Given the description of an element on the screen output the (x, y) to click on. 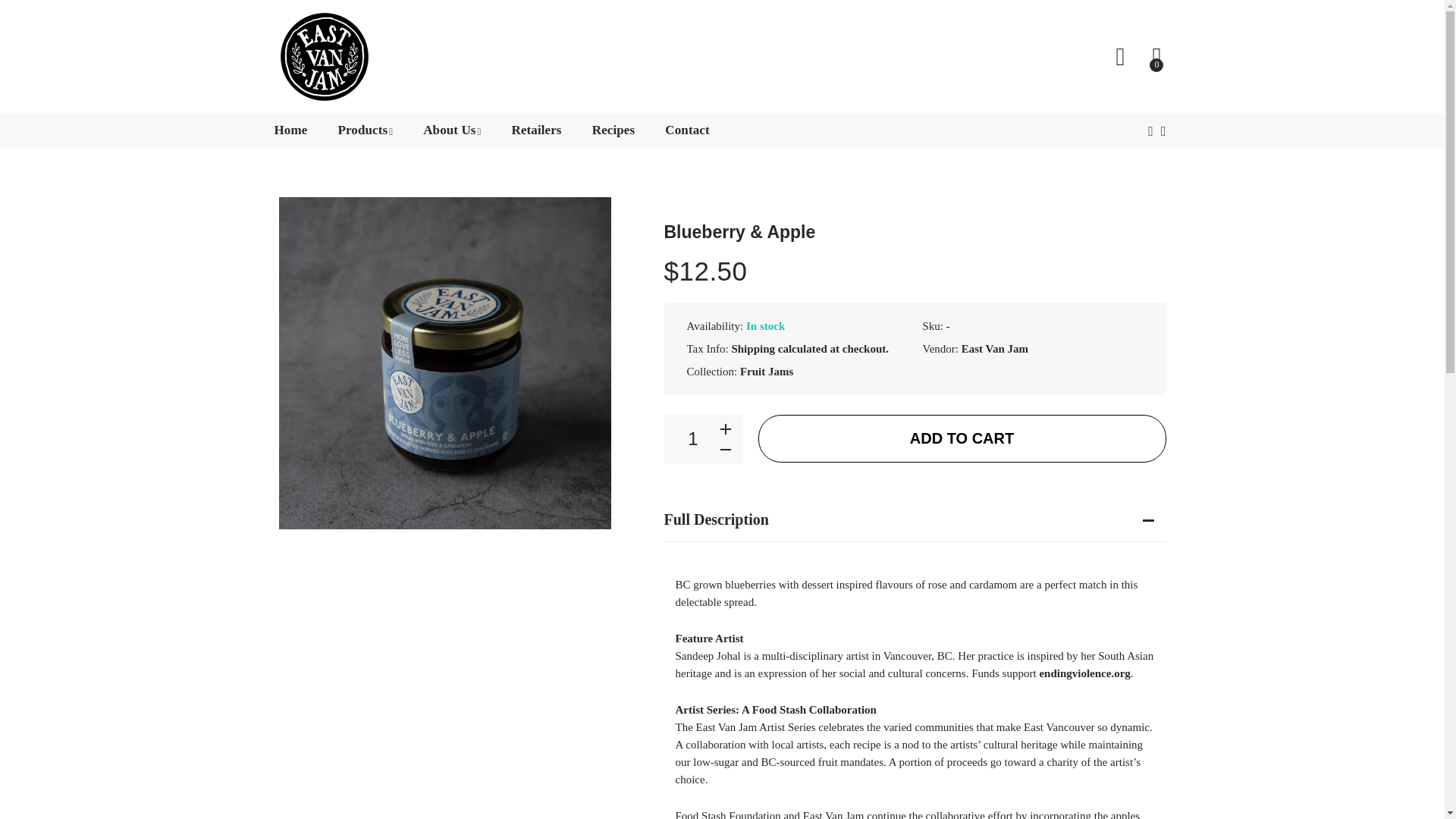
East Van Jam on Facebook (1150, 131)
About Us (451, 130)
Search (1120, 56)
0 (1158, 56)
Your cart (1158, 56)
Retailers (536, 130)
Products (366, 130)
Home (291, 130)
East Van Jam on Instagram (1163, 131)
1 (692, 438)
